Given the description of an element on the screen output the (x, y) to click on. 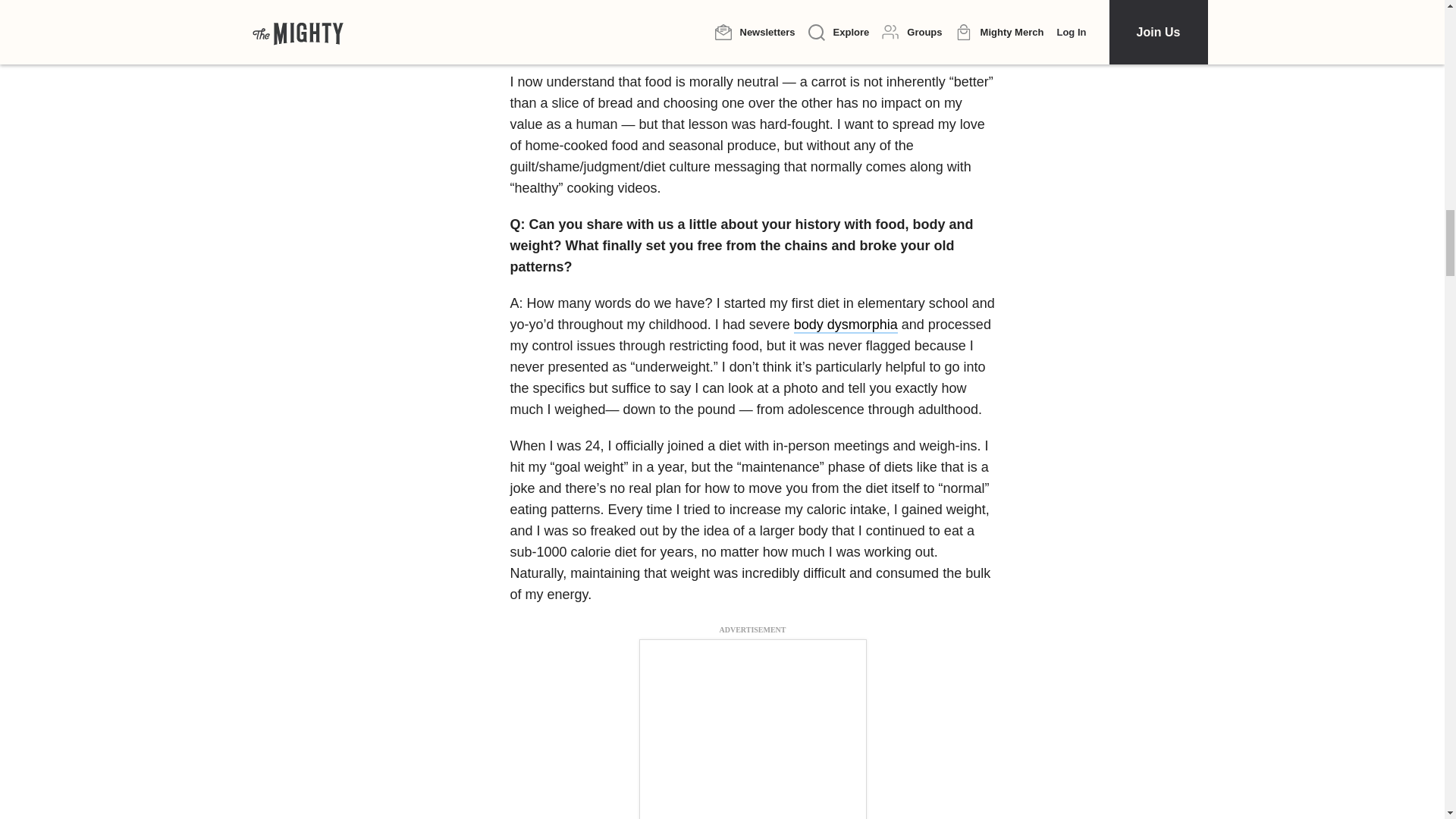
body dysmorphia (845, 324)
